Given the description of an element on the screen output the (x, y) to click on. 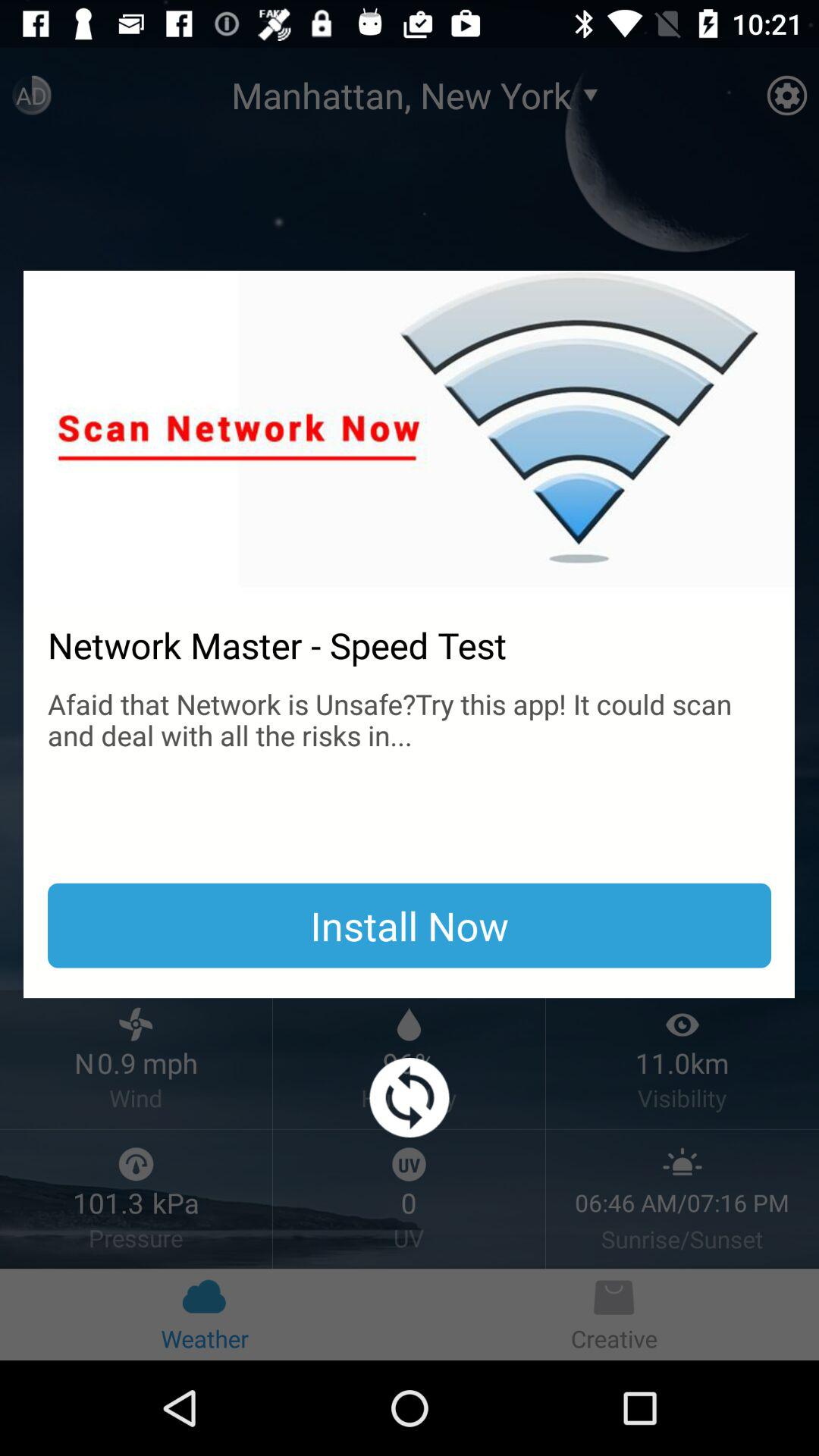
tap the item at the bottom (409, 1097)
